Given the description of an element on the screen output the (x, y) to click on. 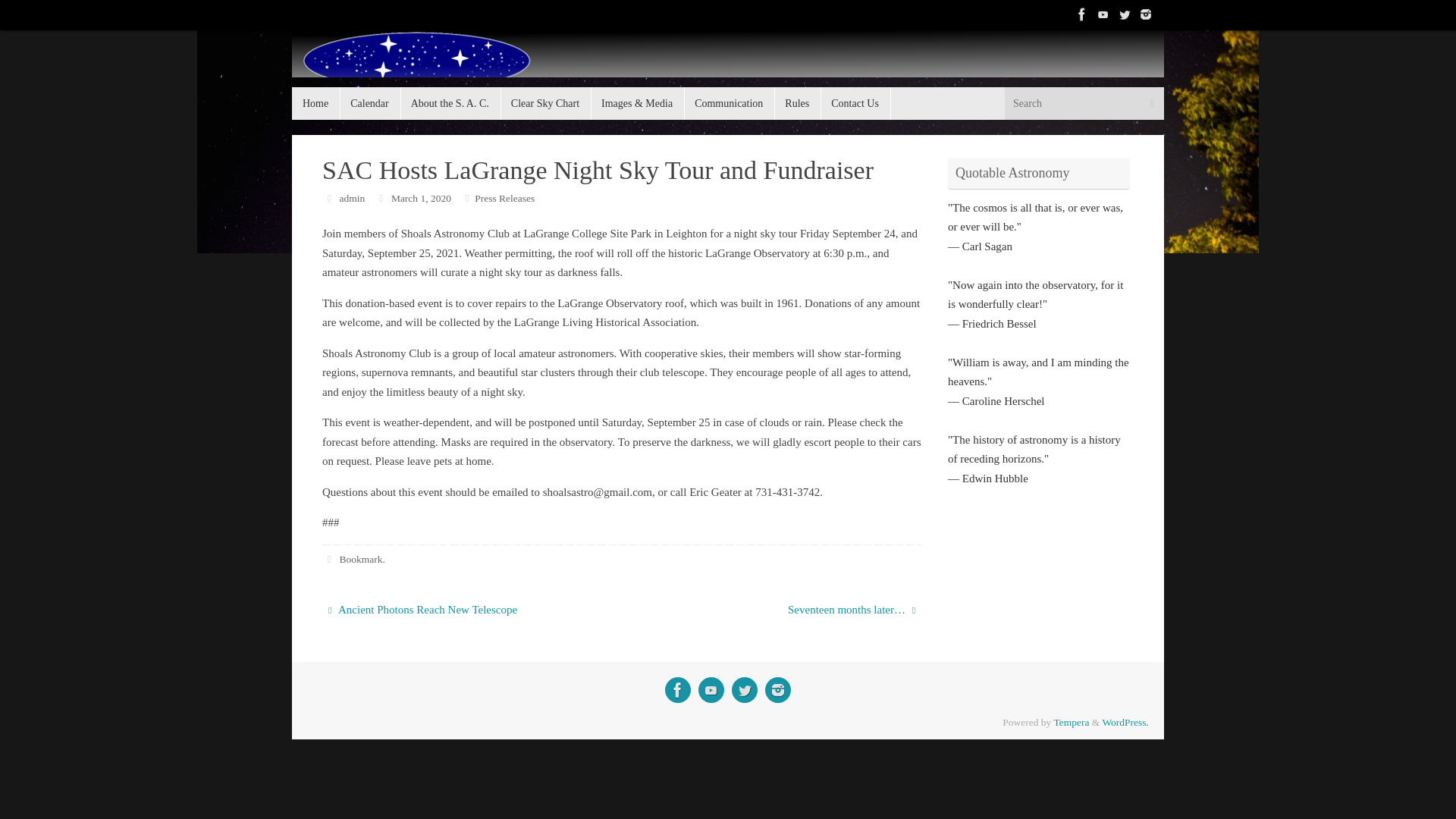
Bookmark (360, 559)
Calendar (369, 102)
About the S. A. C. (450, 102)
Ancient Photons Reach New Telescope (462, 610)
Instagram (777, 689)
Facebook (677, 689)
Contact Us (855, 102)
admin (352, 197)
WordPress. (1125, 722)
March 1, 2020 (421, 197)
